Given the description of an element on the screen output the (x, y) to click on. 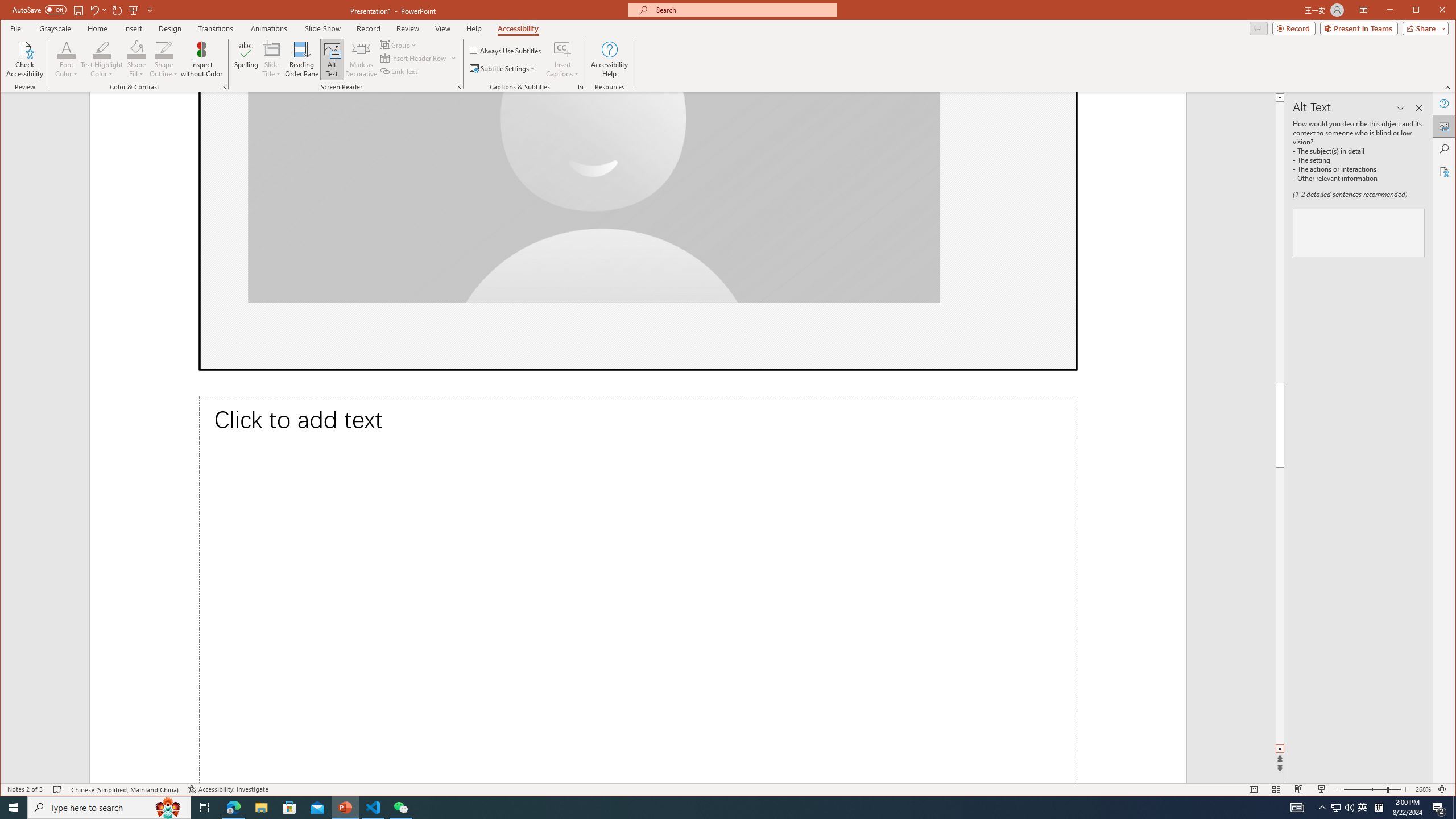
Zoom 268% (1422, 789)
Mark as Decorative (360, 59)
Color & Contrast (223, 86)
Reading Order Pane (301, 59)
